Given the description of an element on the screen output the (x, y) to click on. 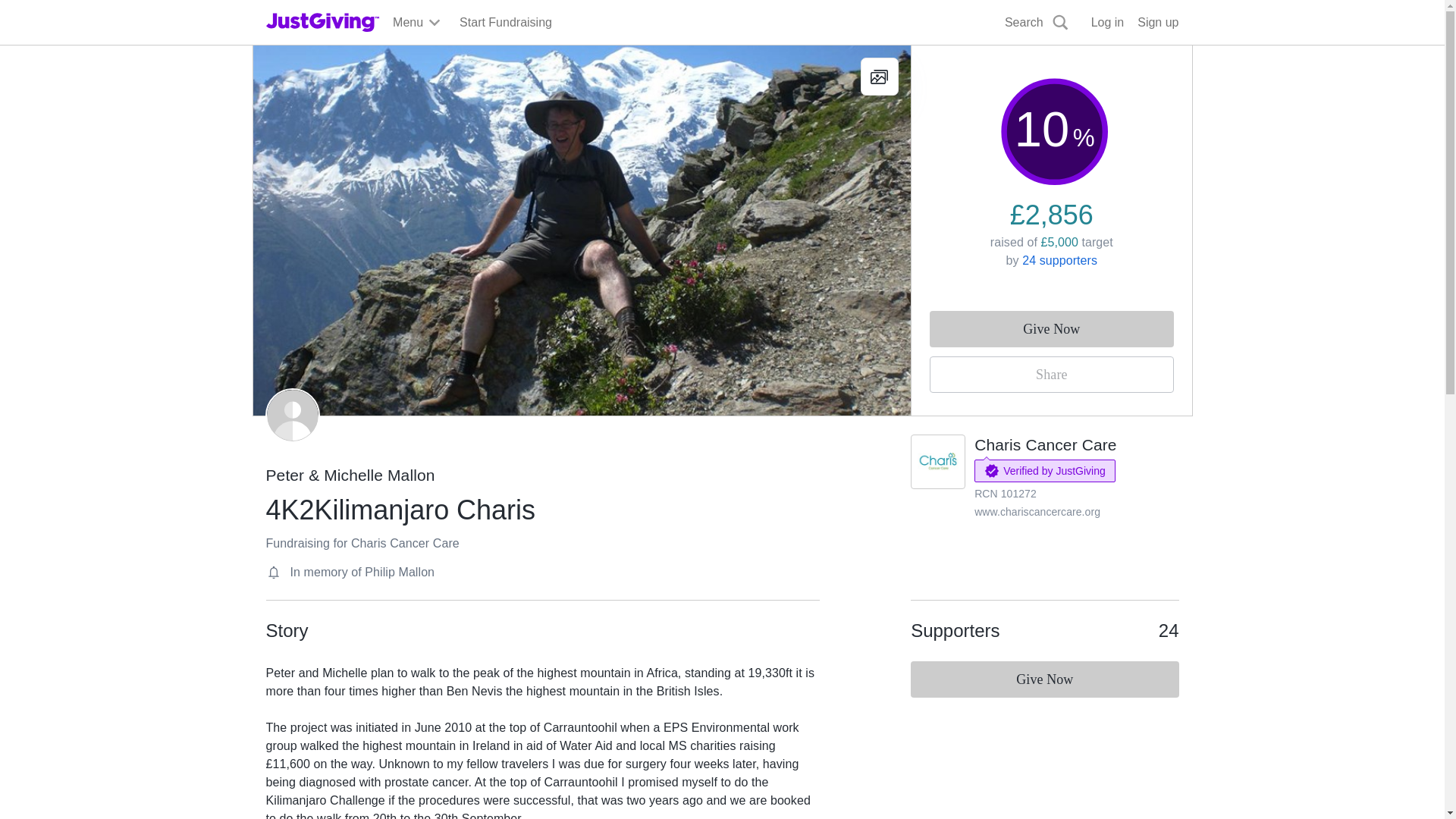
Charis Cancer Care (1045, 444)
Log in (1107, 22)
Share (1051, 374)
Menu (416, 22)
www.chariscancercare.org (1037, 511)
Sign up (1157, 22)
Search (919, 57)
Search (1036, 22)
24 supporters (1059, 259)
Start Fundraising (505, 22)
